Given the description of an element on the screen output the (x, y) to click on. 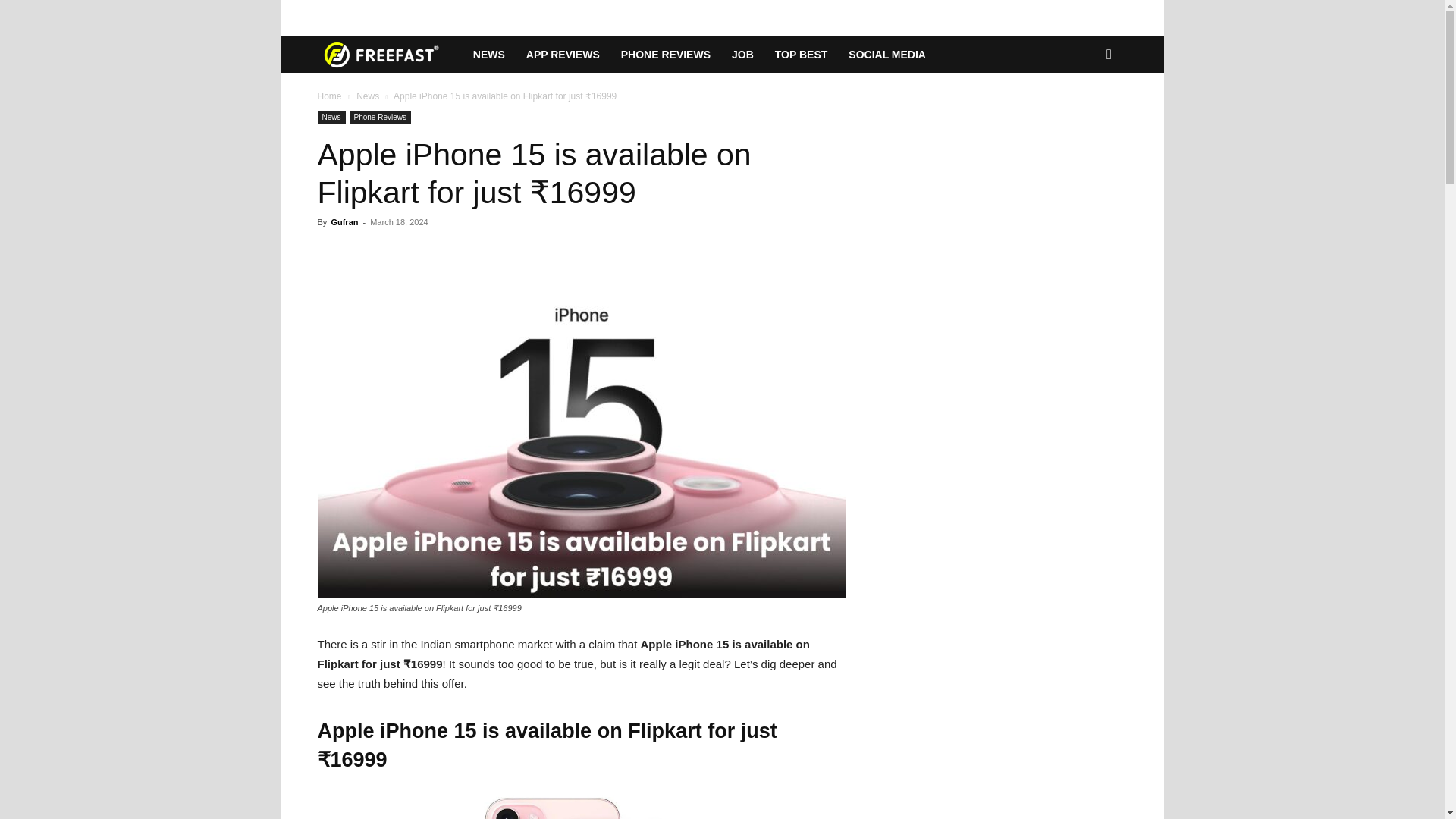
NEWS (489, 54)
APP REVIEWS (562, 54)
FreeFast (381, 54)
FreeFast (389, 54)
